Given the description of an element on the screen output the (x, y) to click on. 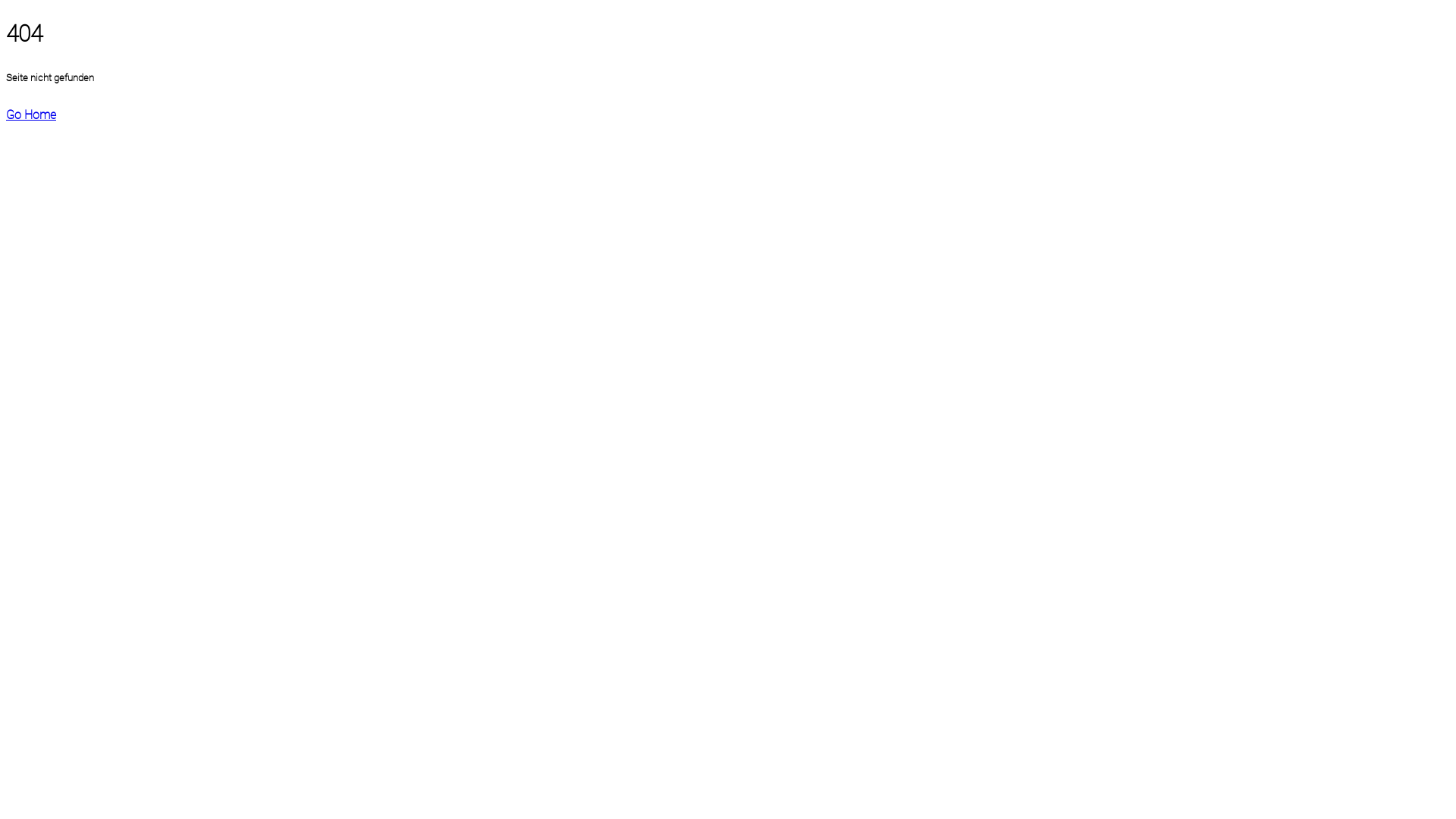
Go Home Element type: text (31, 114)
